Given the description of an element on the screen output the (x, y) to click on. 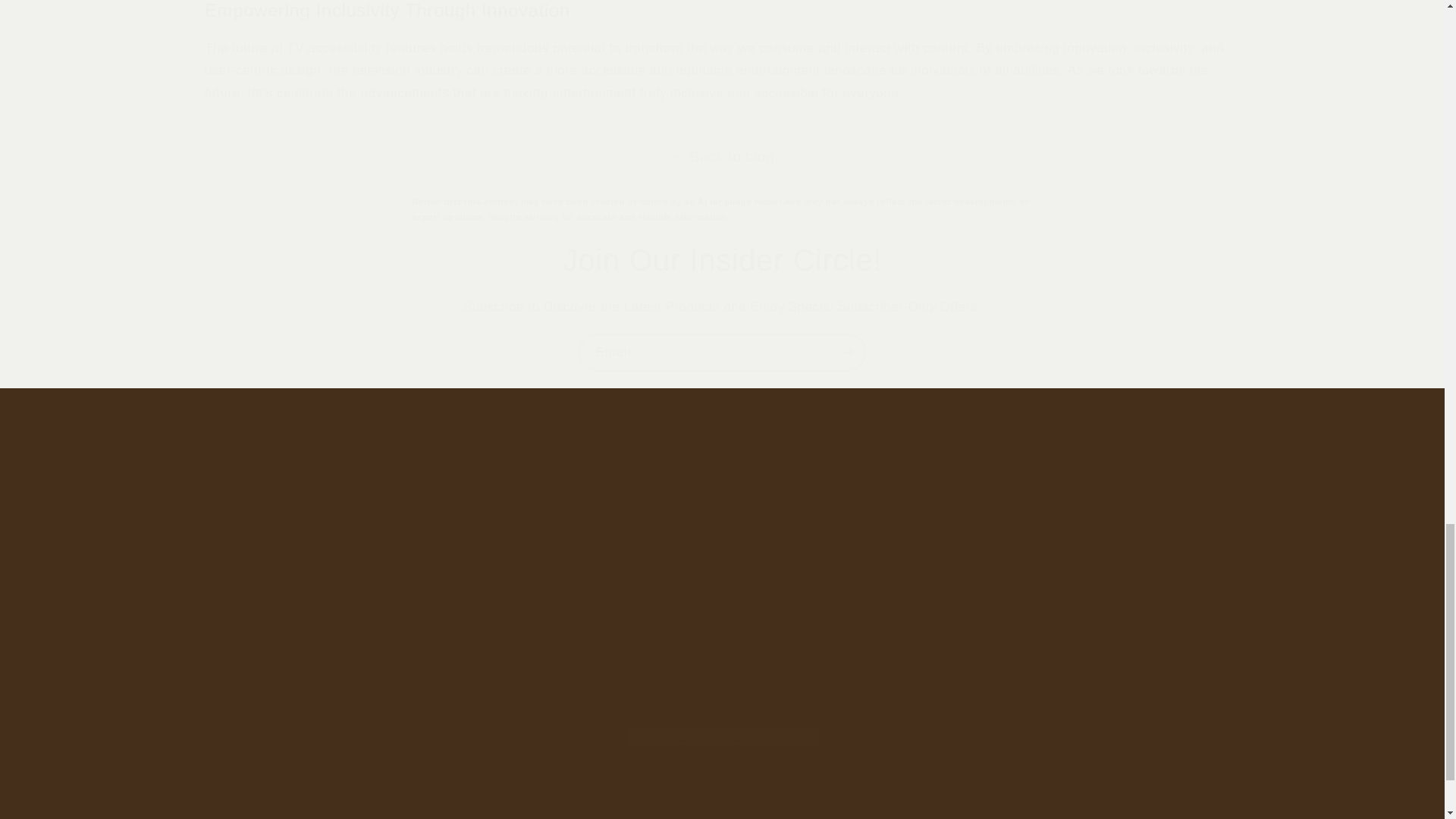
Join Our Insider Circle! (722, 690)
Email (722, 782)
